Given the description of an element on the screen output the (x, y) to click on. 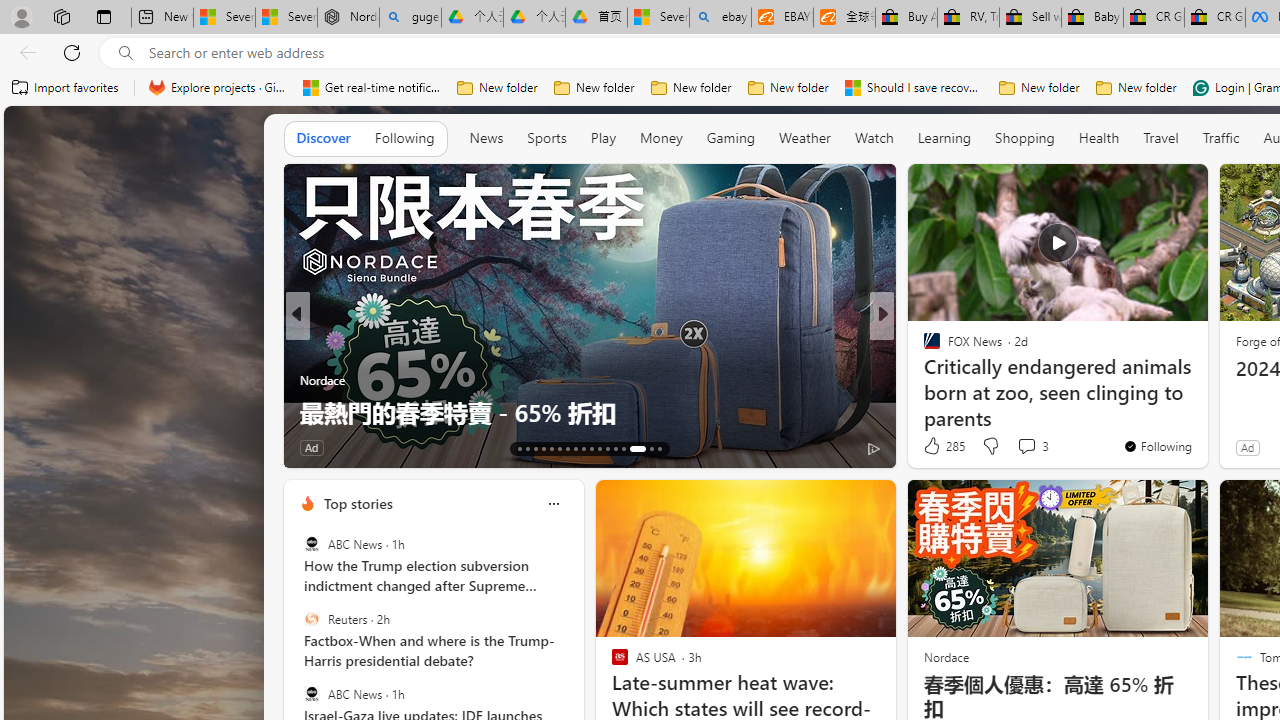
243 Like (320, 447)
AutomationID: tab-25 (614, 448)
Dislike (989, 446)
AutomationID: tab-41 (644, 448)
AutomationID: tab-16 (542, 448)
Following (404, 137)
Storyful (307, 347)
Gaming (730, 137)
AutomationID: tab-24 (606, 448)
Traffic (1220, 137)
AutomationID: tab-40 (631, 448)
Watch (874, 137)
Ad (1247, 447)
Workspaces (61, 16)
